Given the description of an element on the screen output the (x, y) to click on. 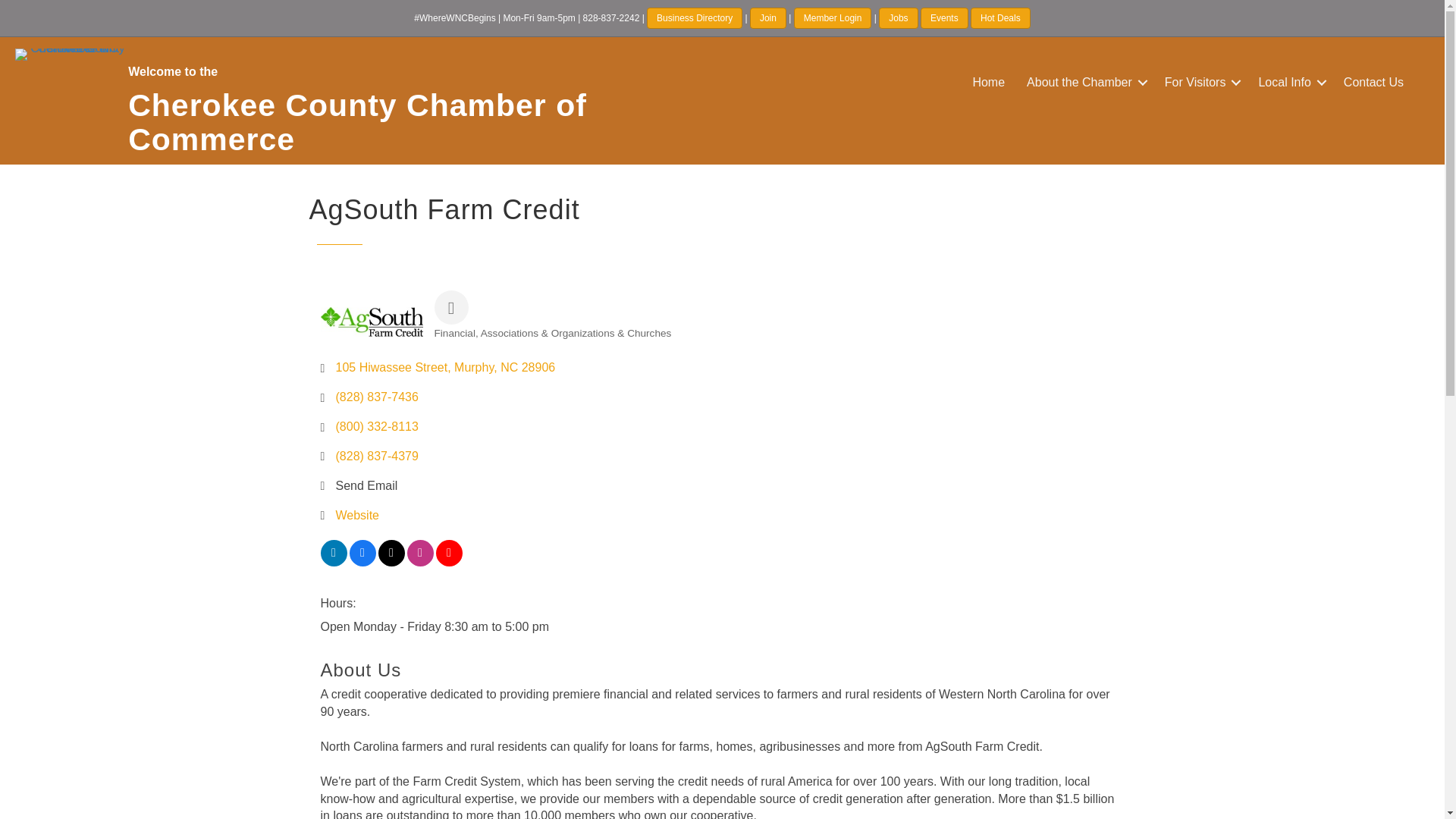
Events (944, 17)
For Visitors (1200, 82)
View on Twitter (390, 562)
View on YouTube (448, 562)
Hot Deals (1000, 17)
Home (987, 82)
Join (767, 17)
Member Login (832, 17)
Local Info (1289, 82)
Jobs (898, 17)
